Given the description of an element on the screen output the (x, y) to click on. 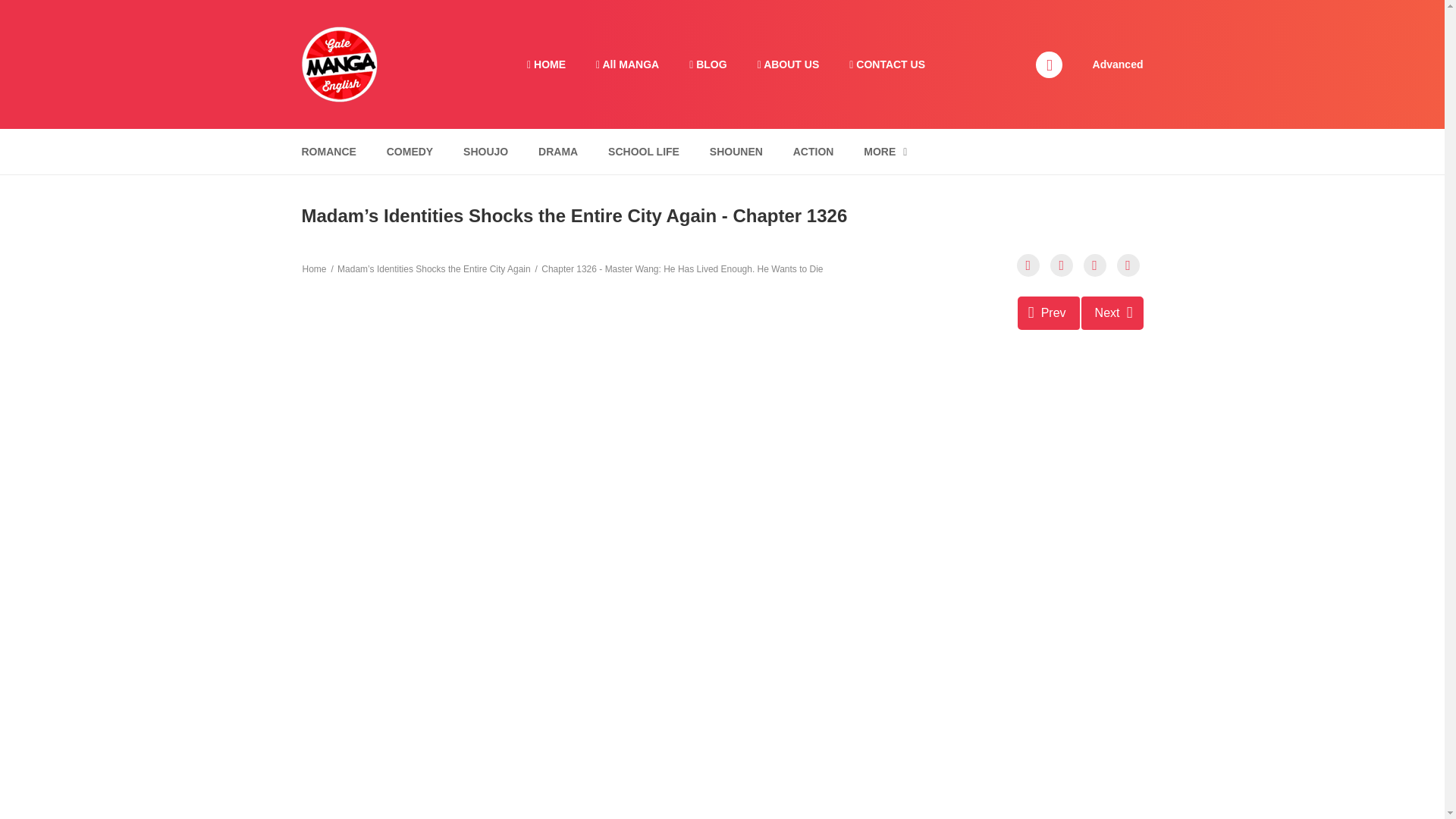
SHOUNEN (736, 151)
ROMANCE (328, 151)
HOME (546, 64)
COMEDY (409, 151)
MORE (885, 151)
Chapter 1325 (1048, 313)
BLOG (707, 64)
DRAMA (558, 151)
CONTACT US (887, 64)
All MANGA (627, 64)
ACTION (813, 151)
Bookmark (1094, 264)
SHOUJO (485, 151)
SCHOOL LIFE (643, 151)
ABOUT US (788, 64)
